Given the description of an element on the screen output the (x, y) to click on. 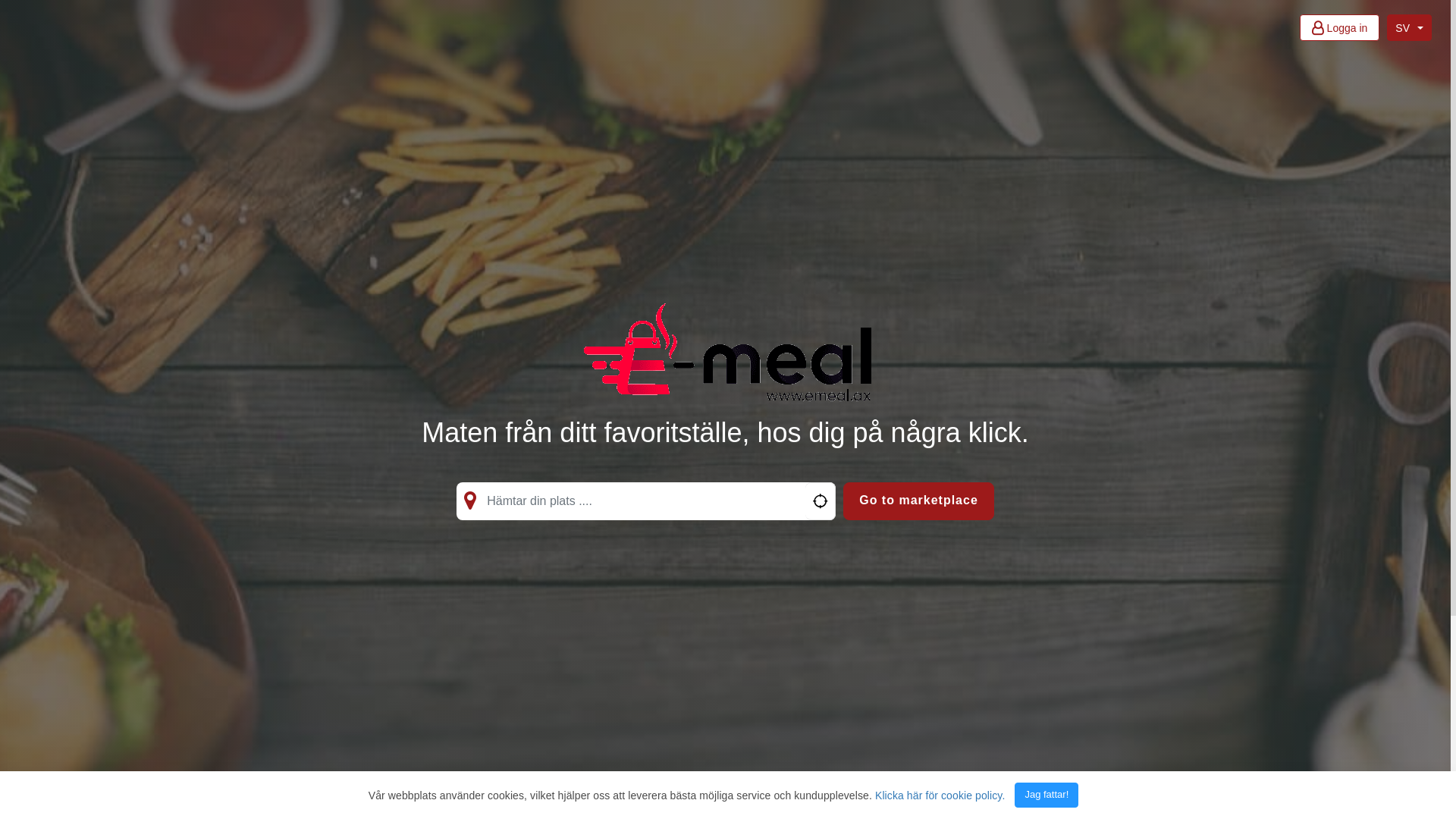
SV Element type: text (1408, 27)
Jag fattar! Element type: text (1046, 794)
Go to marketplace Element type: text (918, 501)
Logga in Element type: text (1339, 27)
